Given the description of an element on the screen output the (x, y) to click on. 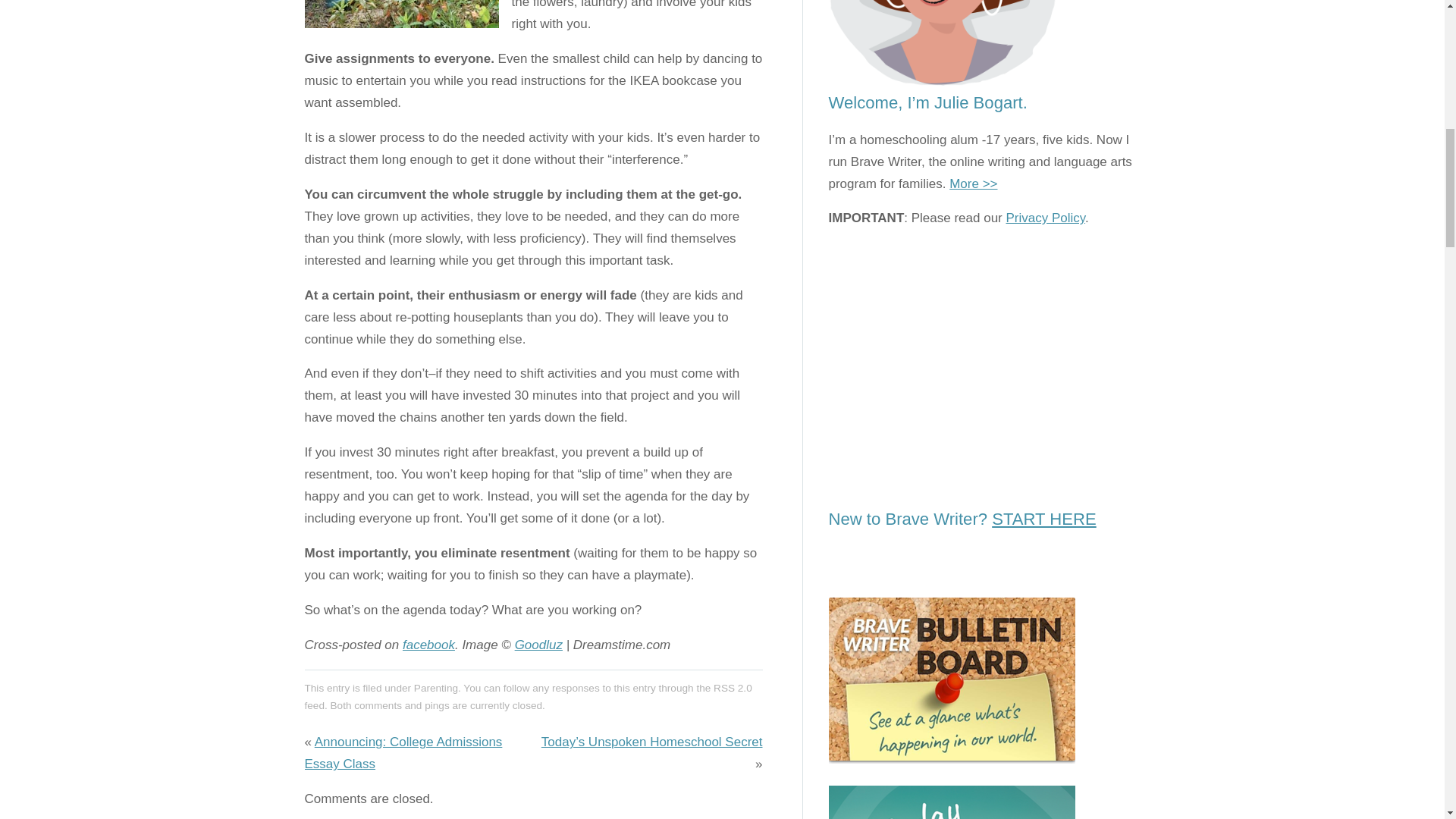
Goodluz (538, 644)
